Given the description of an element on the screen output the (x, y) to click on. 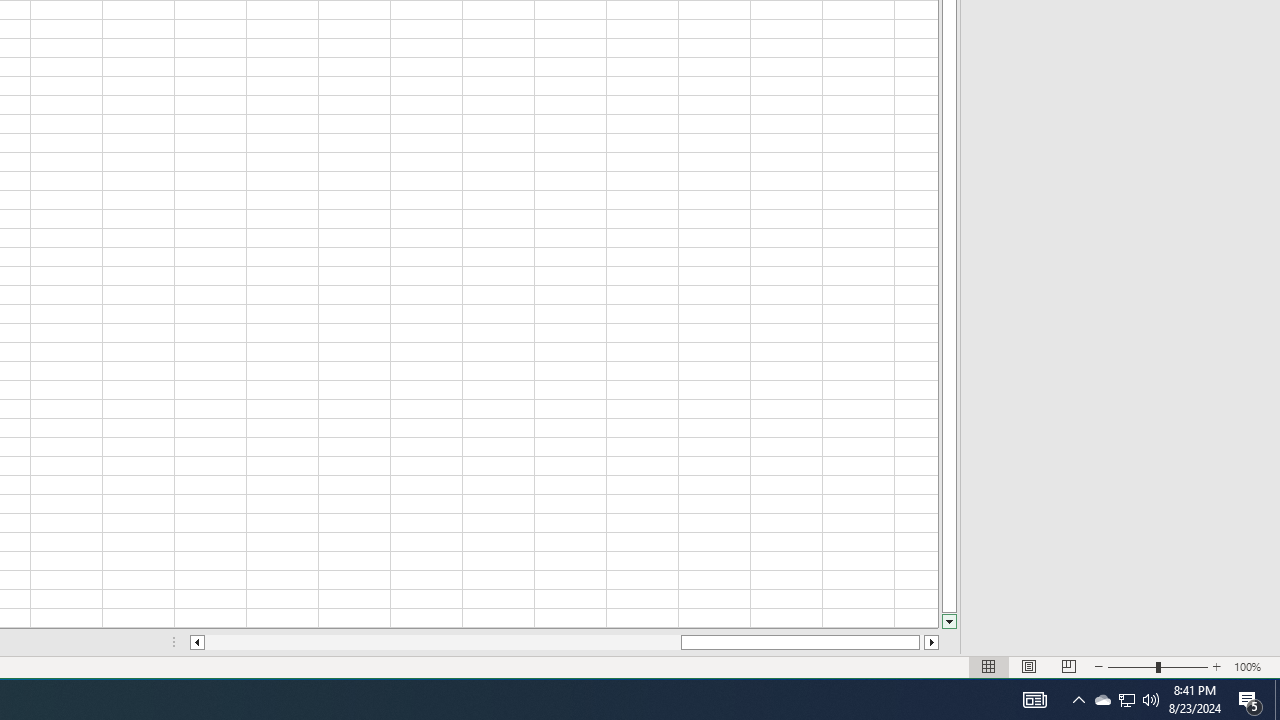
User Promoted Notification Area (1102, 699)
Action Center, 5 new notifications (1126, 699)
Q2790: 100% (1250, 699)
Page left (1151, 699)
